Given the description of an element on the screen output the (x, y) to click on. 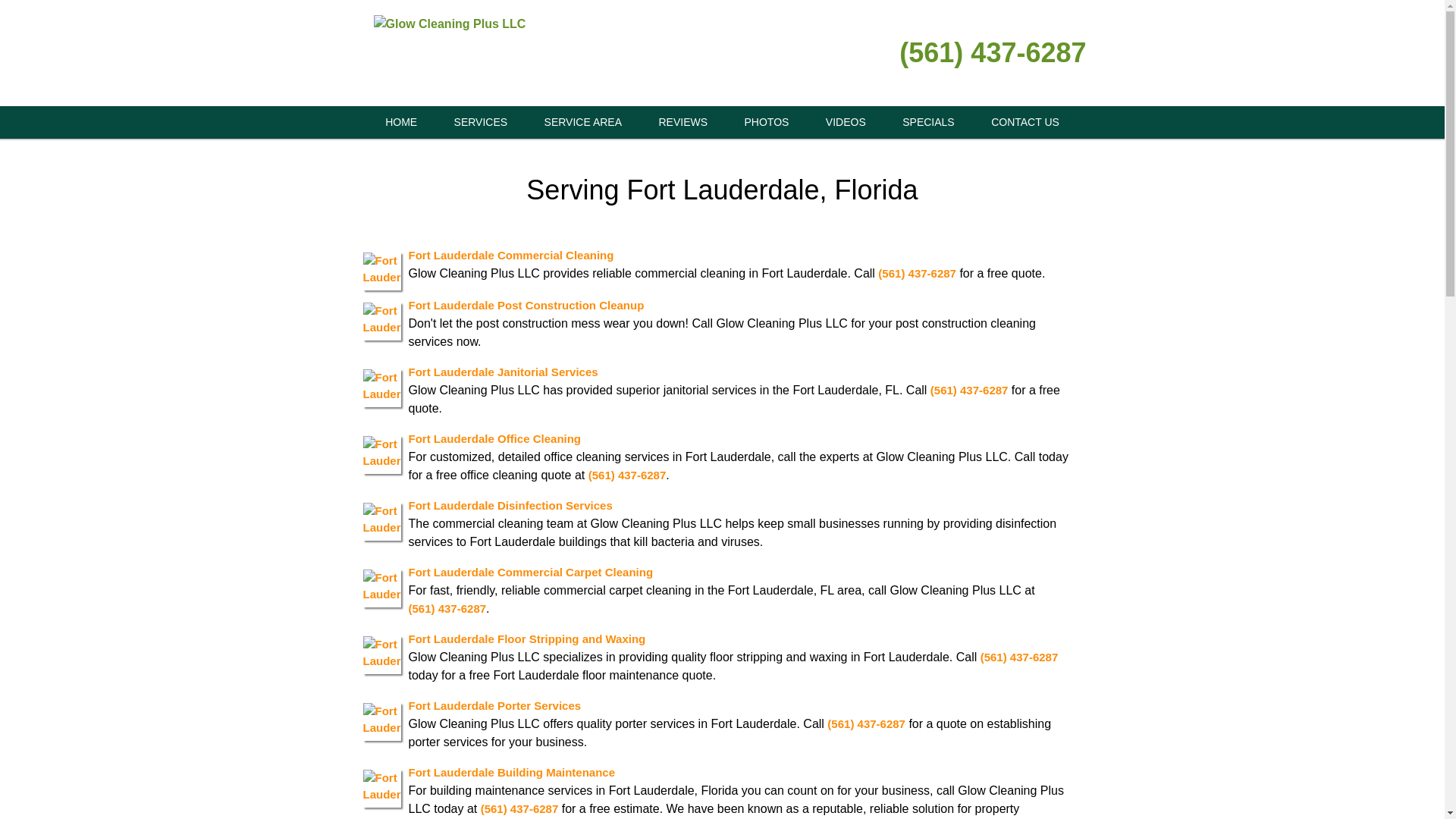
Fort Lauderdale Commercial Cleaning (509, 254)
Fort Lauderdale Janitorial Services (501, 371)
PHOTOS (767, 122)
Fort Lauderdale Post Construction Cleanup (525, 305)
Fort Lauderdale Commercial Carpet Cleaning (529, 571)
REVIEWS (682, 122)
Fort Lauderdale Porter Services (493, 705)
HOME (400, 122)
SERVICE AREA (583, 122)
SERVICES (481, 122)
